Given the description of an element on the screen output the (x, y) to click on. 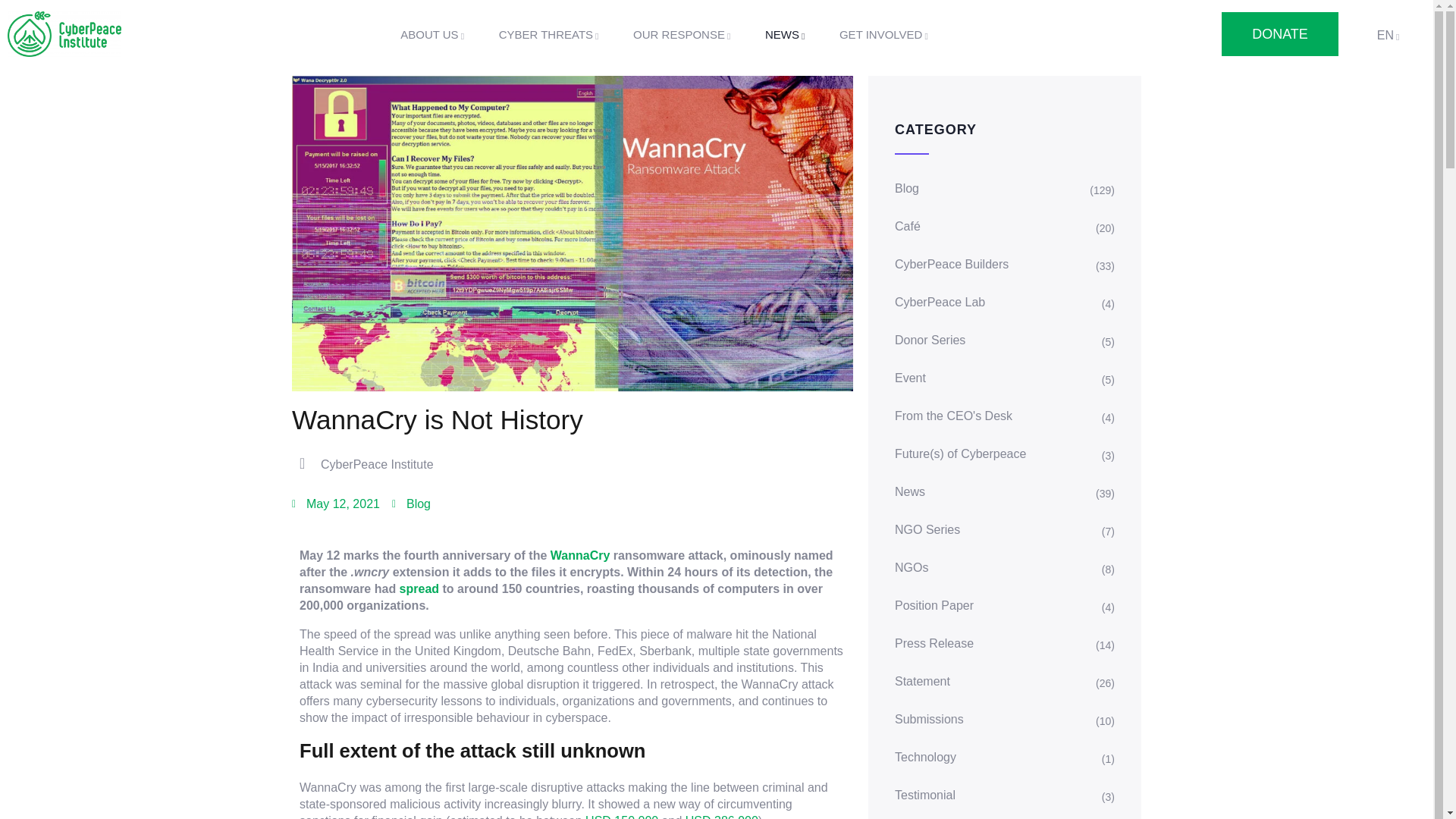
Home (63, 34)
